Given the description of an element on the screen output the (x, y) to click on. 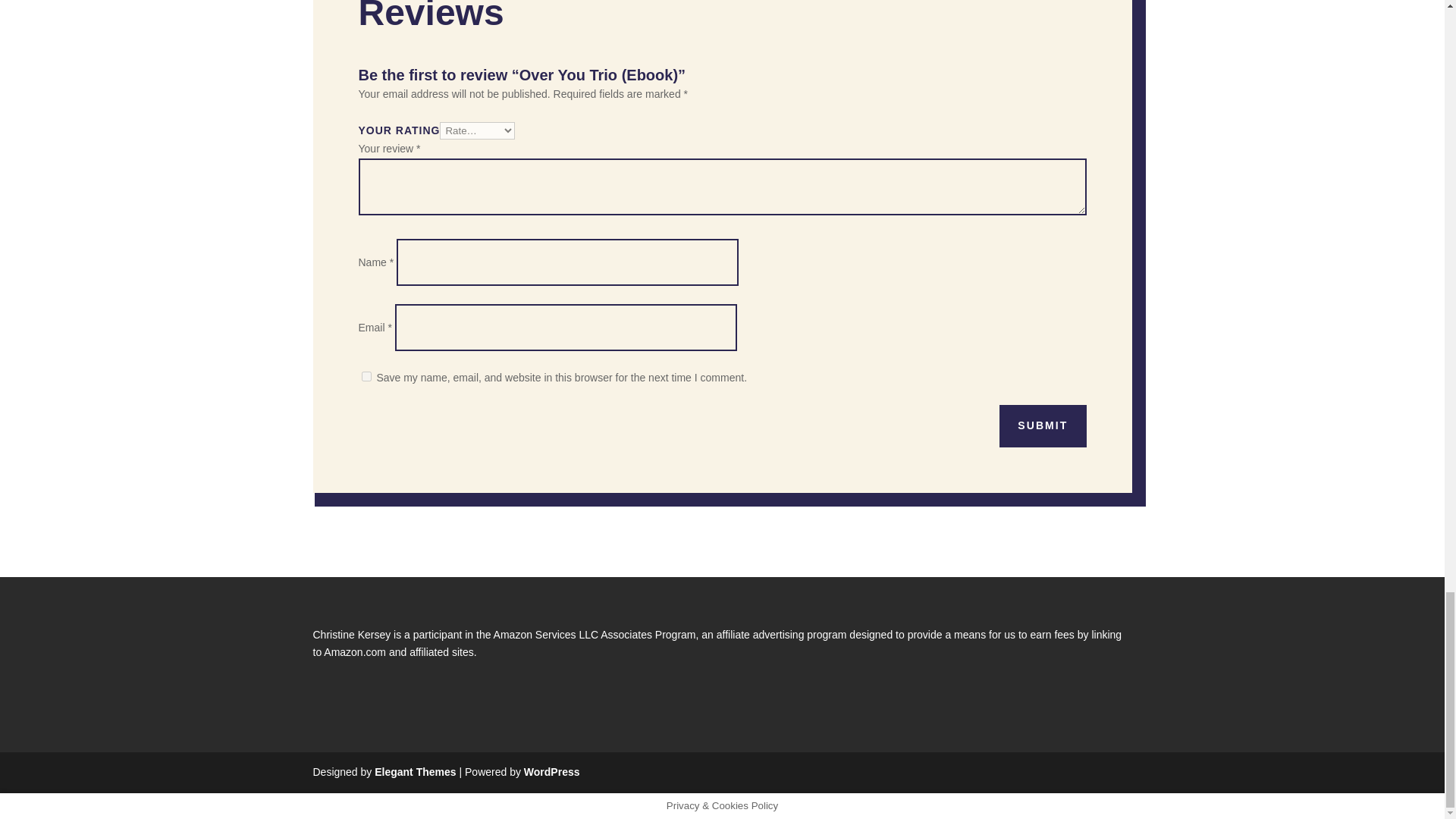
yes (366, 376)
Premium WordPress Themes (414, 771)
